Given the description of an element on the screen output the (x, y) to click on. 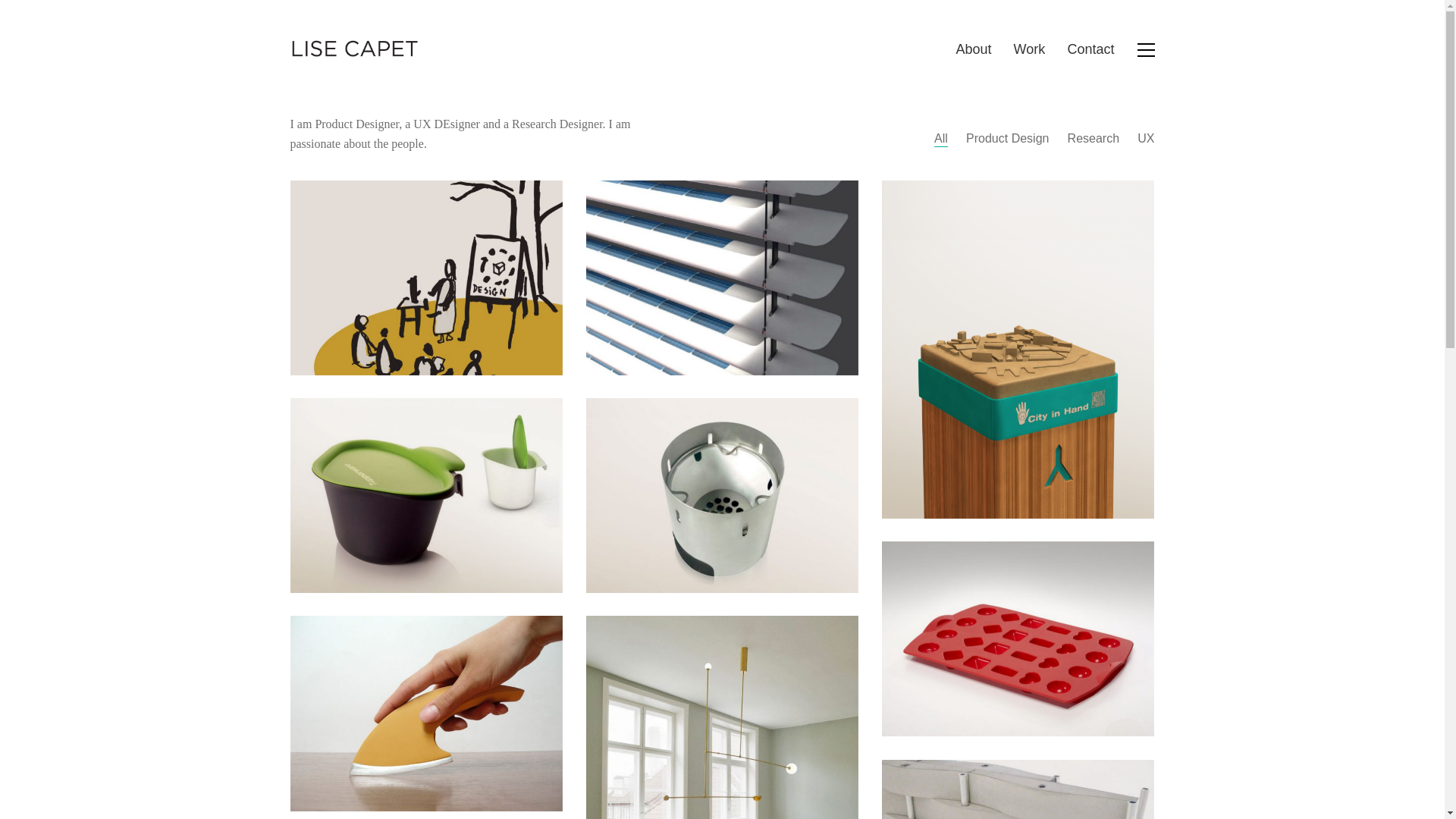
Research (1093, 138)
UX (1145, 138)
Work (1029, 49)
All (940, 138)
Product Design (1007, 138)
About (973, 49)
Contact (1090, 49)
